Given the description of an element on the screen output the (x, y) to click on. 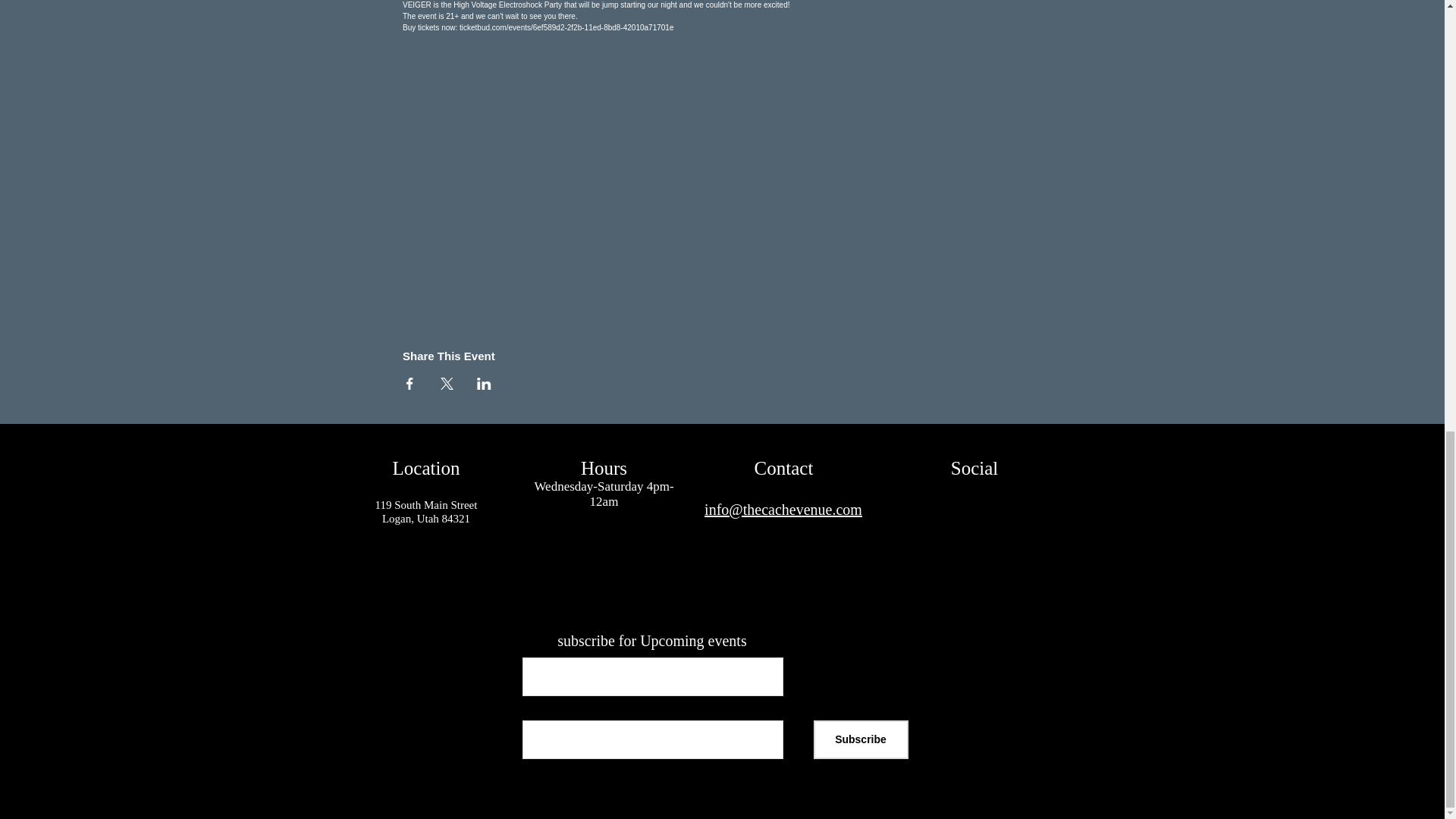
Subscribe (859, 739)
